Given the description of an element on the screen output the (x, y) to click on. 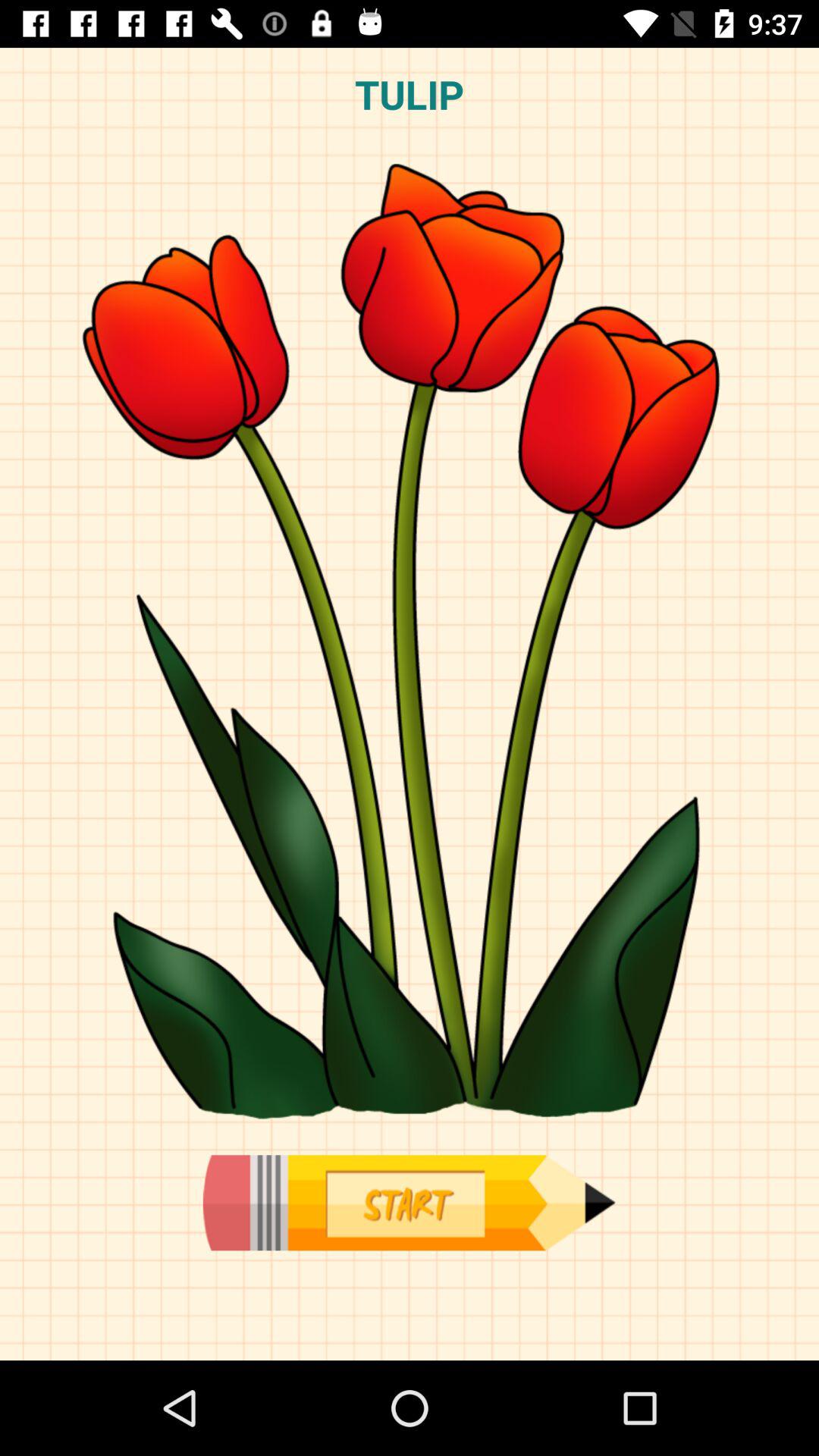
start here (409, 1202)
